Given the description of an element on the screen output the (x, y) to click on. 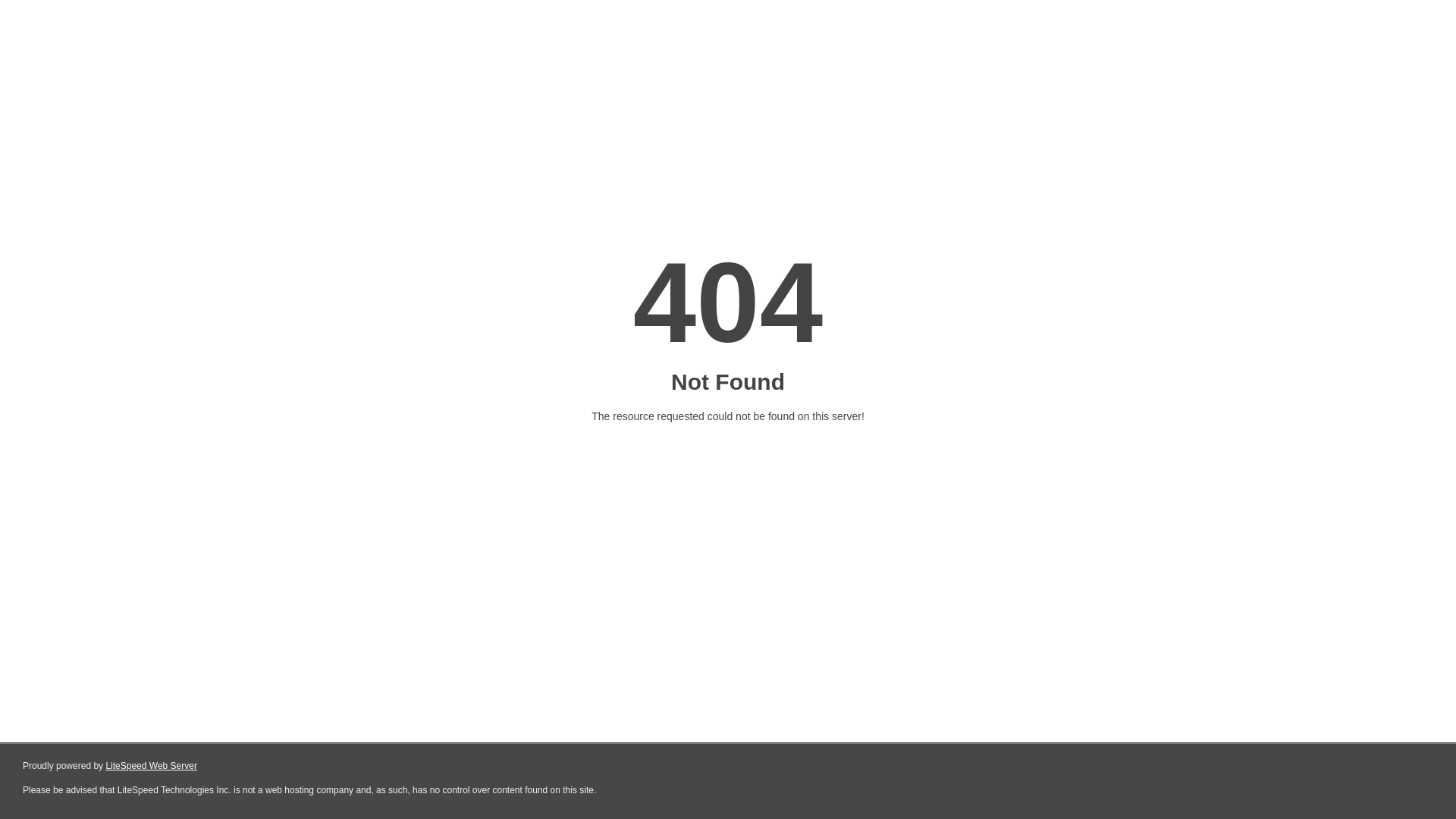
LiteSpeed Web Server Element type: text (151, 765)
